Given the description of an element on the screen output the (x, y) to click on. 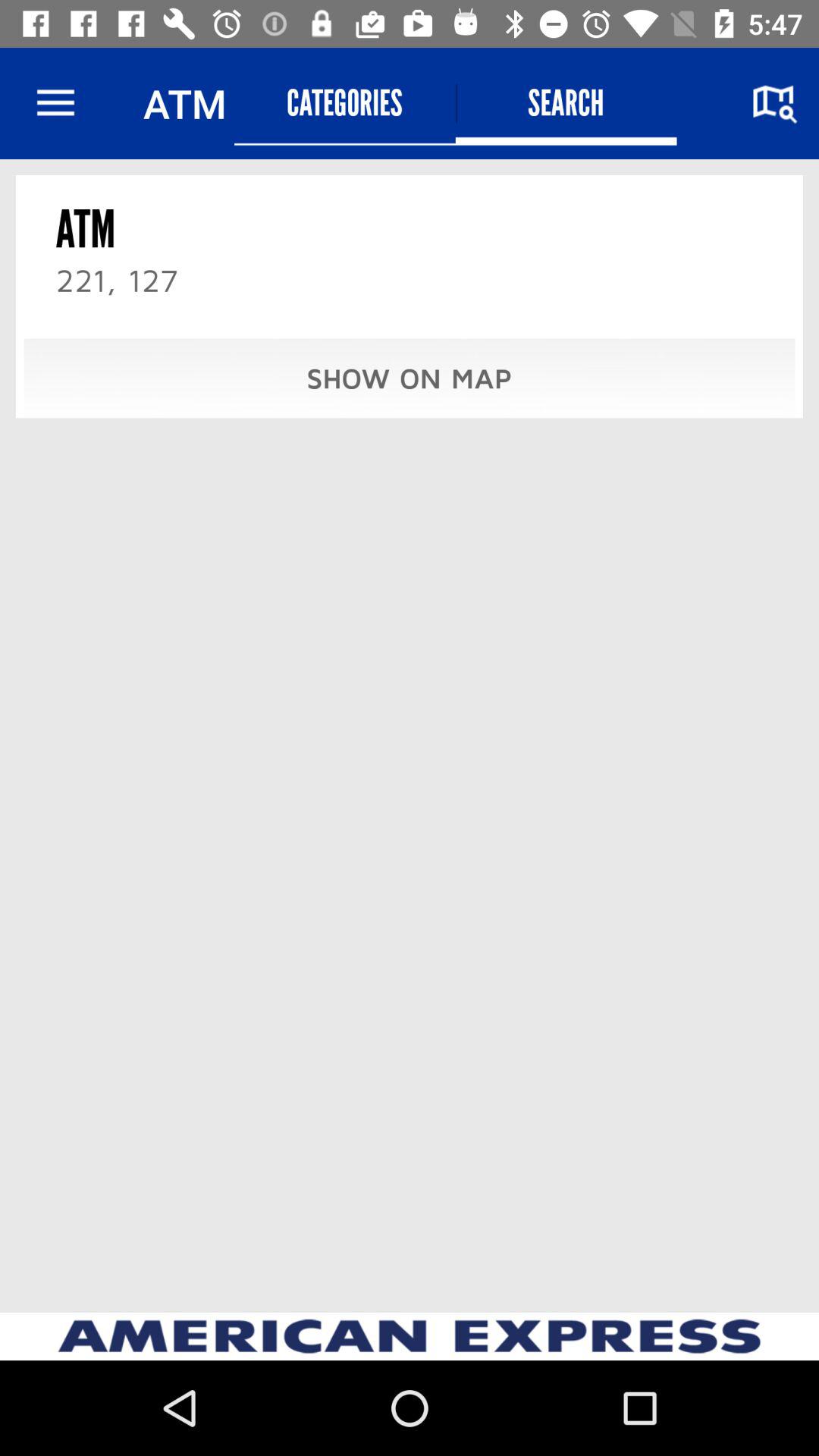
choose icon next to the atm item (55, 103)
